Given the description of an element on the screen output the (x, y) to click on. 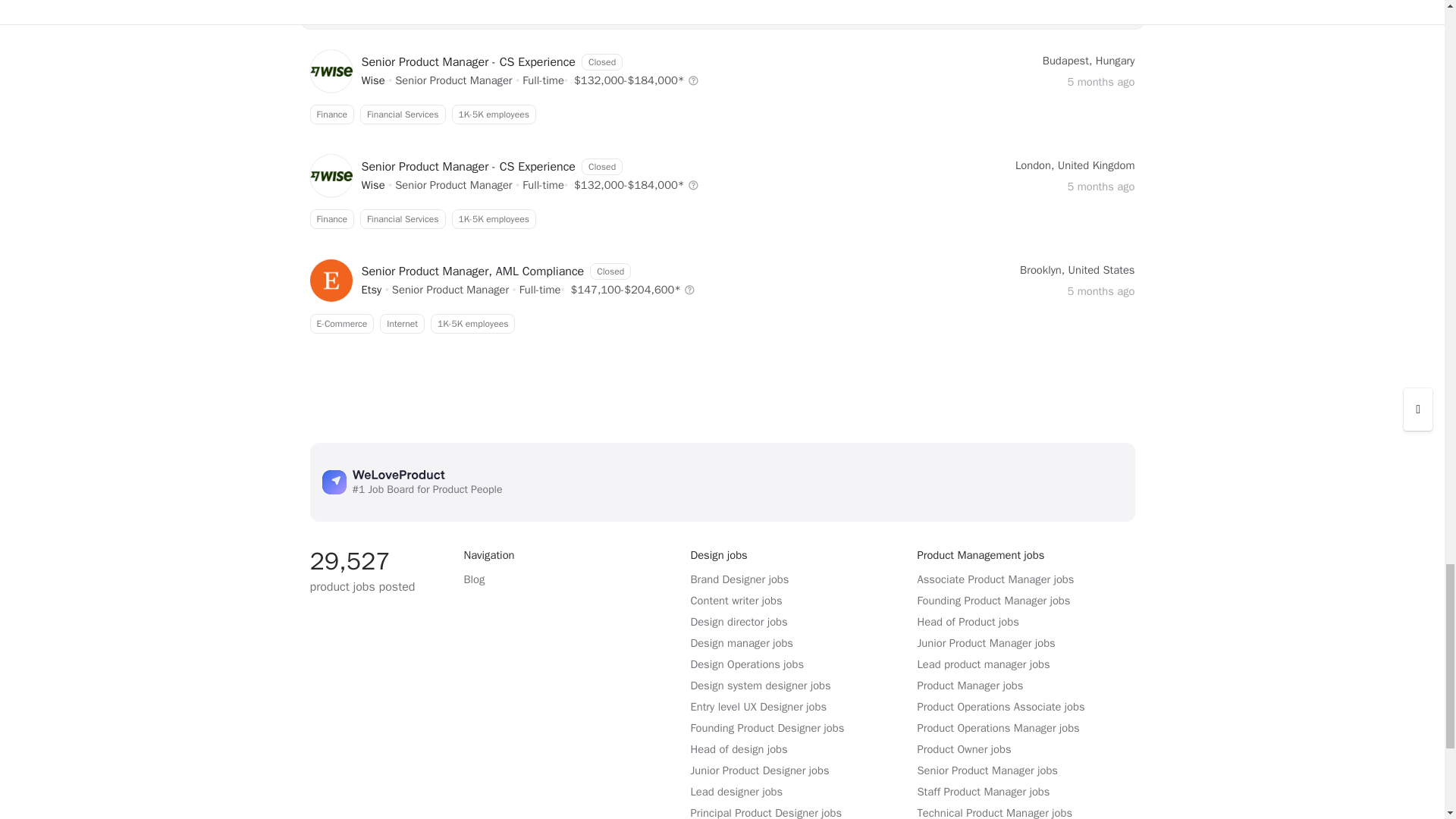
Senior Product Manager jobs at Wise (721, 219)
Senior Product Manager jobs at Wise (372, 184)
Senior Product Manager jobs at Etsy (721, 114)
Senior Product Manager jobs (372, 79)
Senior Product Manager jobs (371, 289)
Senior Product Manager jobs (449, 289)
